Given the description of an element on the screen output the (x, y) to click on. 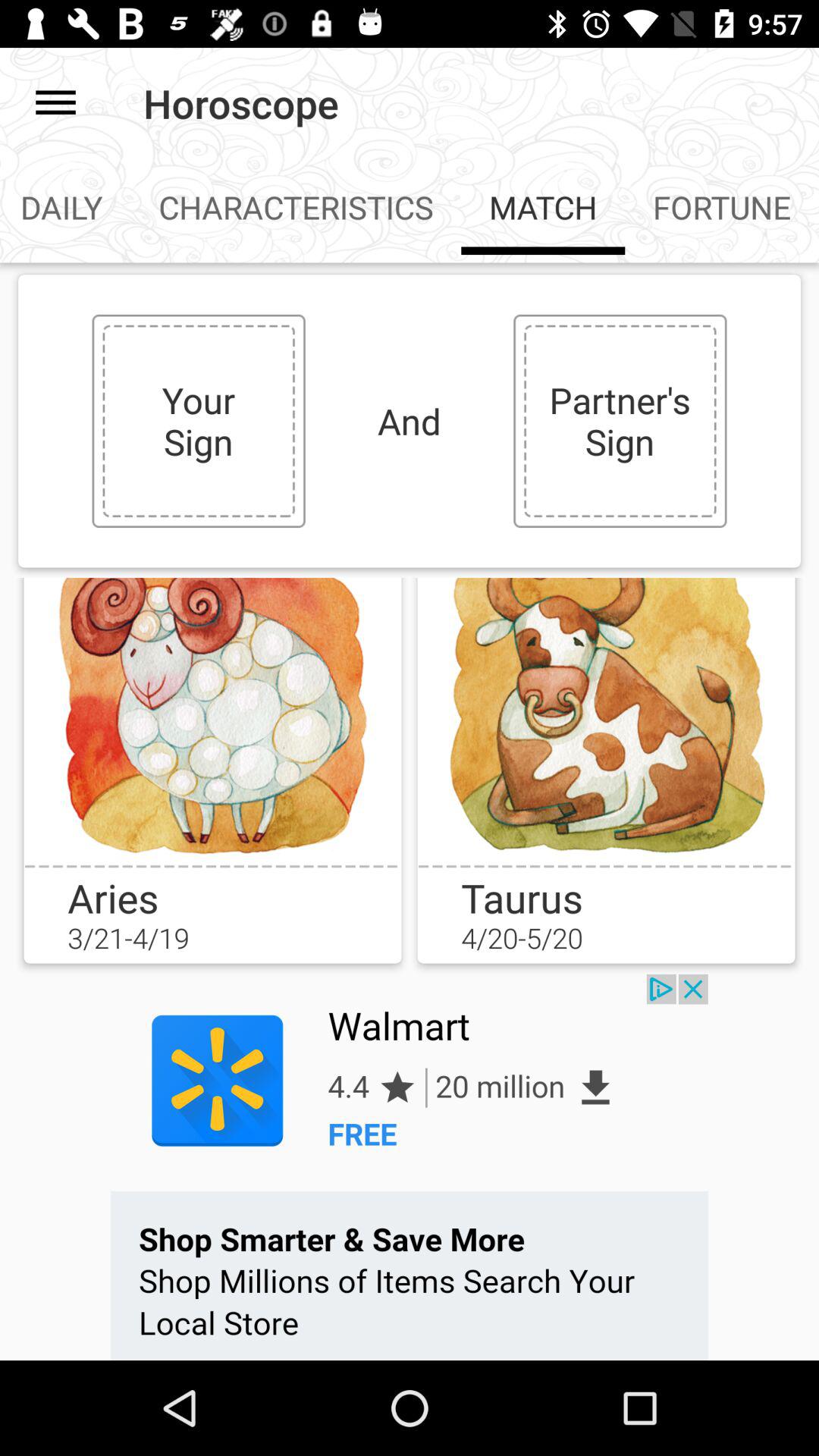
match button (606, 720)
